Given the description of an element on the screen output the (x, y) to click on. 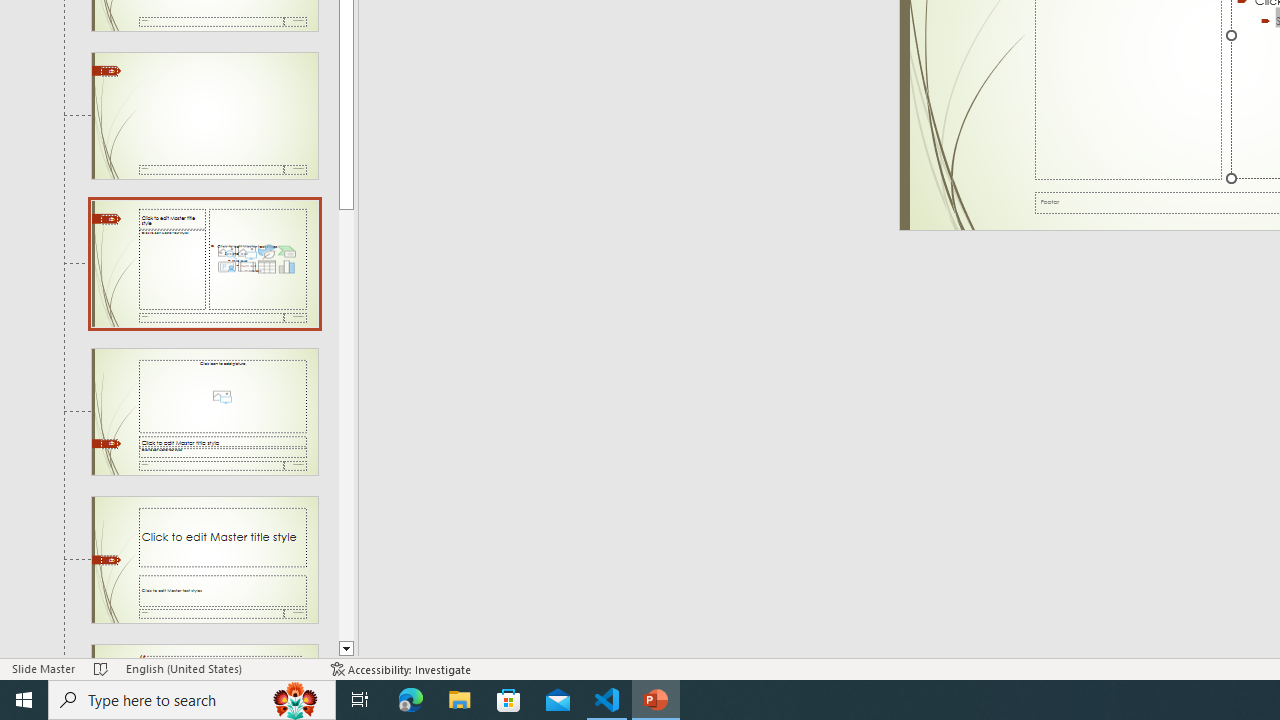
Slide Title and Caption Layout: used by no slides (204, 559)
Slide Quote with Caption Layout: used by no slides (204, 651)
Slide Picture with Caption Layout: used by no slides (204, 412)
